Given the description of an element on the screen output the (x, y) to click on. 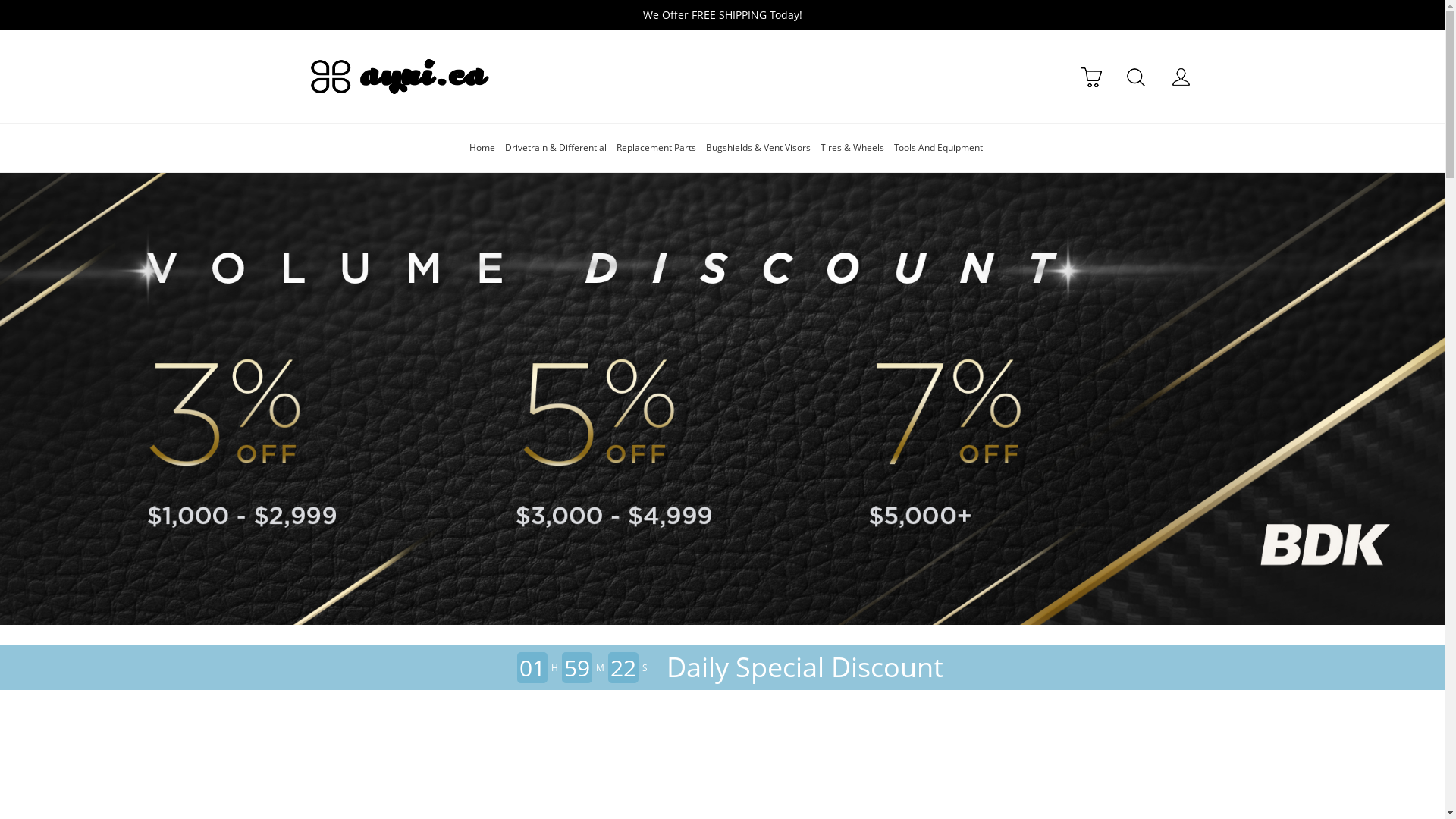
Bugshields & Vent Visors Element type: text (758, 147)
Drivetrain & Differential Element type: text (555, 147)
Tools And Equipment Element type: text (938, 147)
Replacement Parts Element type: text (656, 147)
Home Element type: text (482, 147)
Tires & Wheels Element type: text (852, 147)
Loud Speaker Microphones Element type: hover (722, 398)
